Given the description of an element on the screen output the (x, y) to click on. 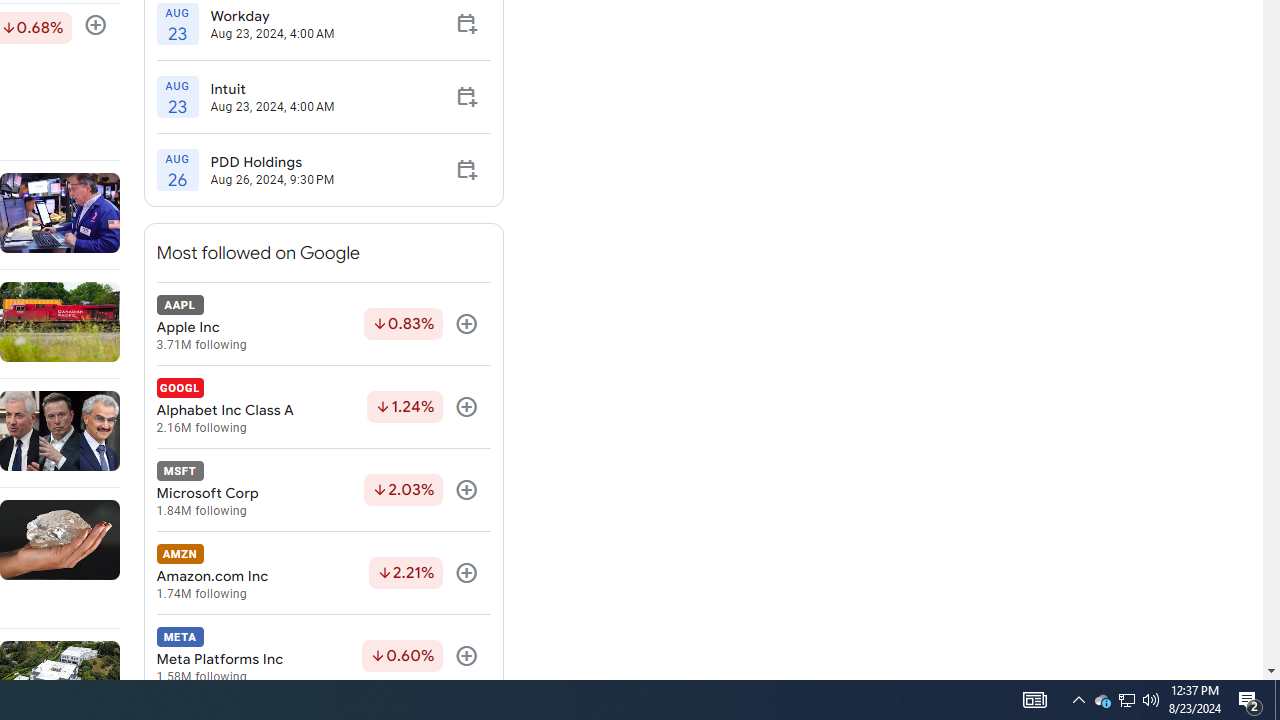
MSFT Microsoft Corp 1.84M following Down by 2.03% Follow (323, 490)
Intuit (272, 89)
PDD Holdings (272, 161)
Add to calendar (466, 169)
Follow (466, 656)
META Meta Platforms Inc 1.58M following Down by 0.60% Follow (323, 655)
AAPL Apple Inc 3.71M following Down by 0.83% Follow (323, 323)
Workday (272, 15)
AMZN Amazon.com Inc 1.74M following Down by 2.21% Follow (323, 573)
